Given the description of an element on the screen output the (x, y) to click on. 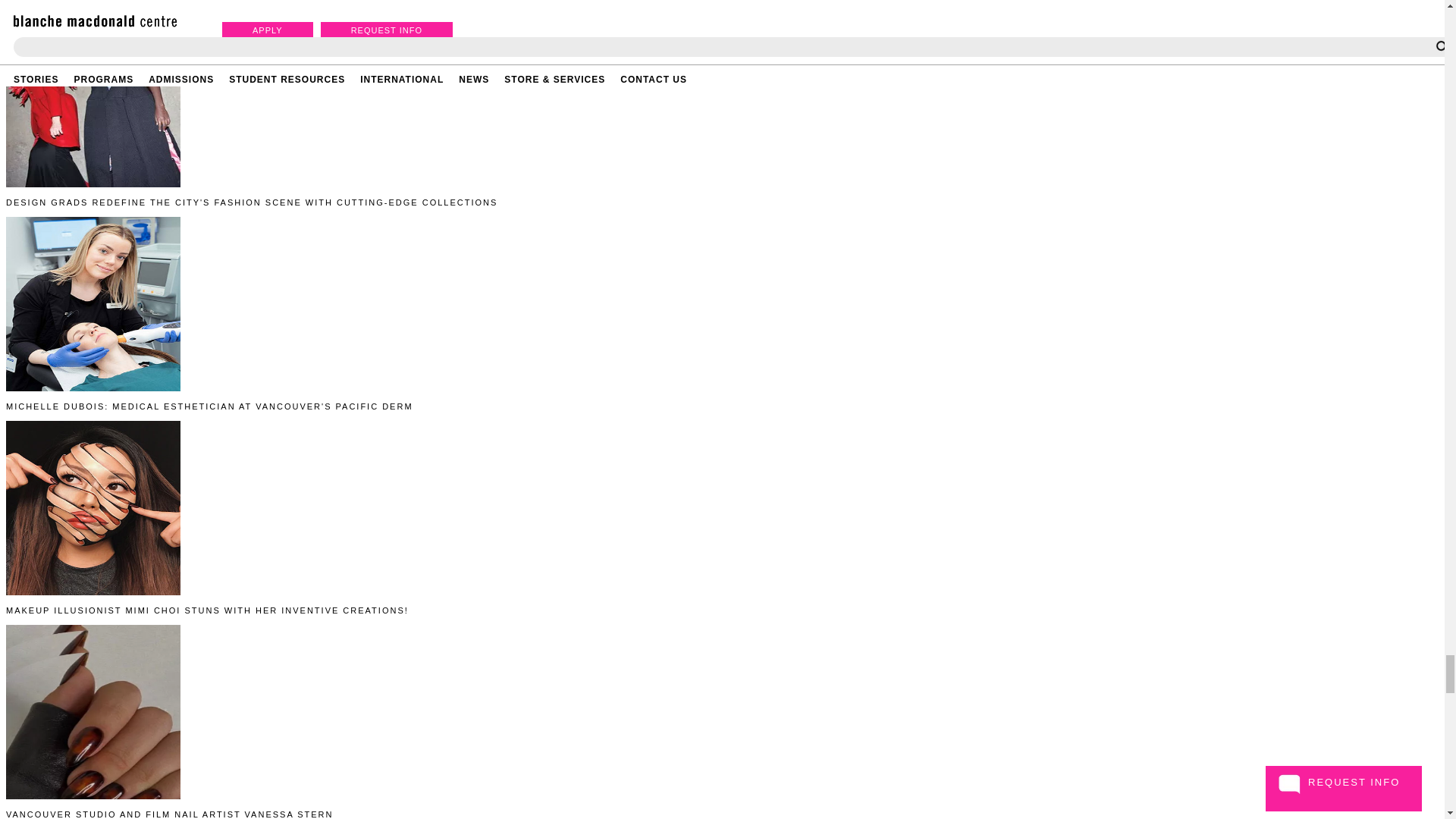
Esthetics Grad Michelle Dubois Lasers in at Pacific Derm (92, 304)
